Given the description of an element on the screen output the (x, y) to click on. 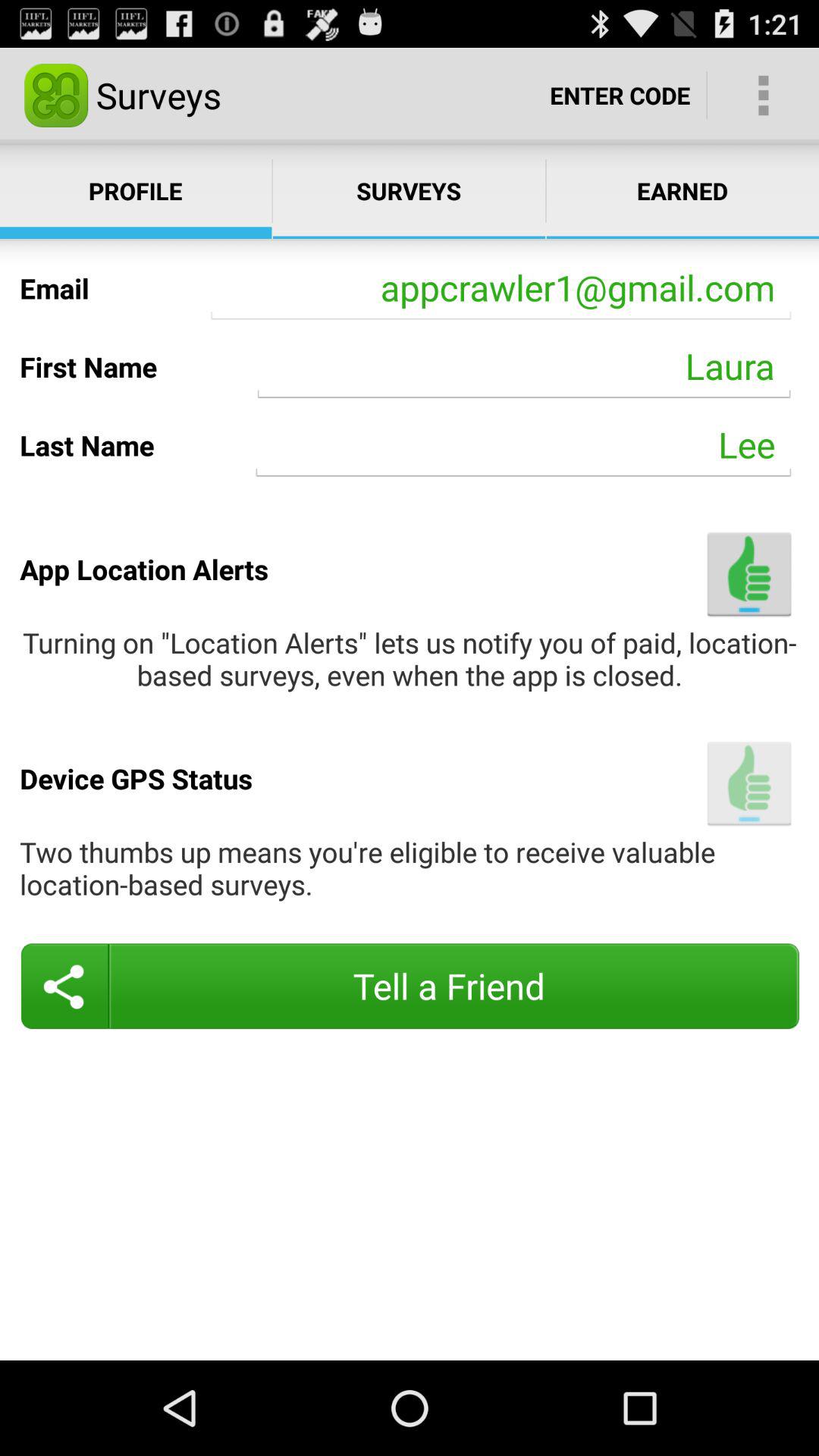
tap the button at the bottom (409, 985)
